Given the description of an element on the screen output the (x, y) to click on. 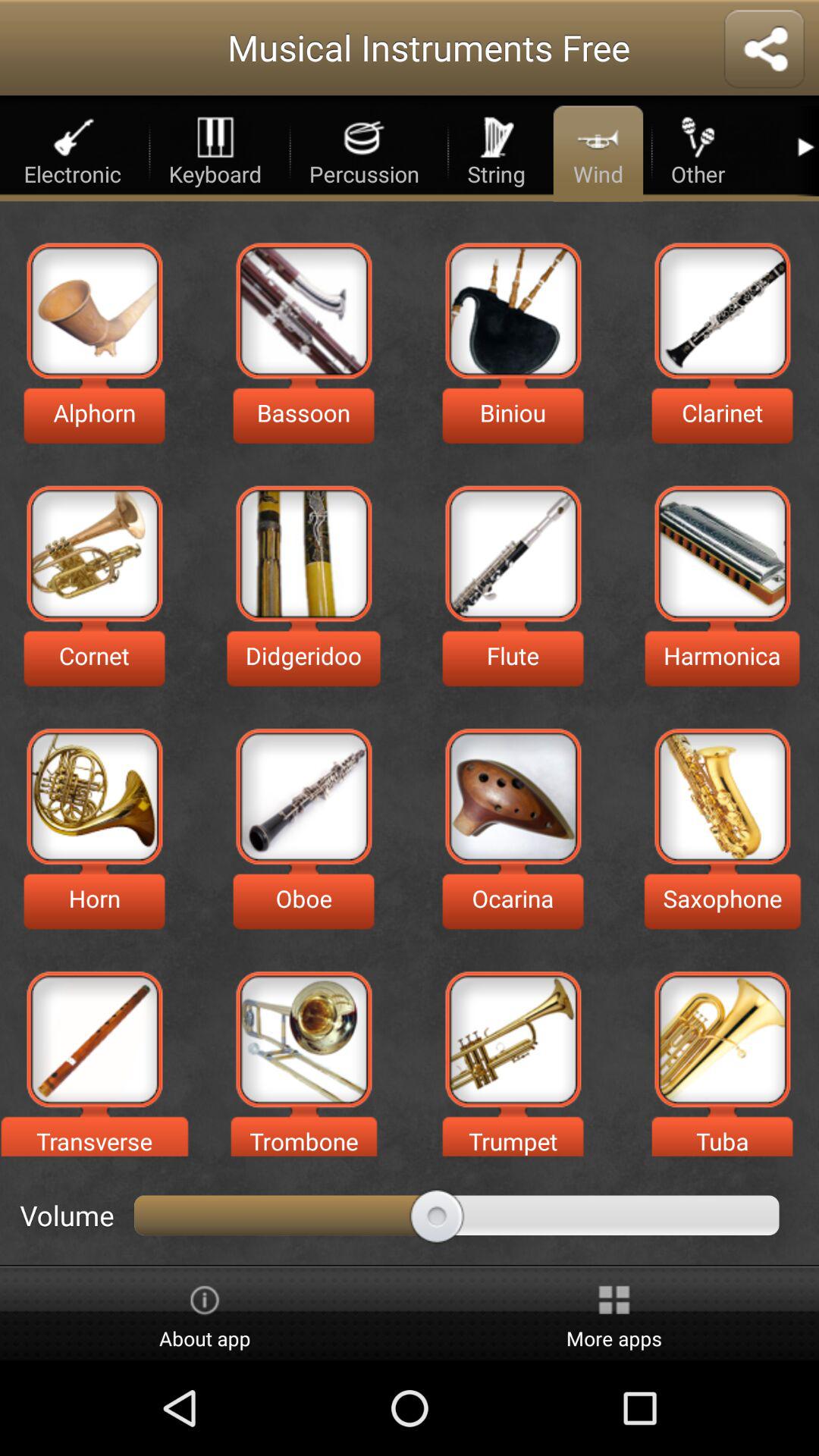
select the icon (94, 1039)
